Given the description of an element on the screen output the (x, y) to click on. 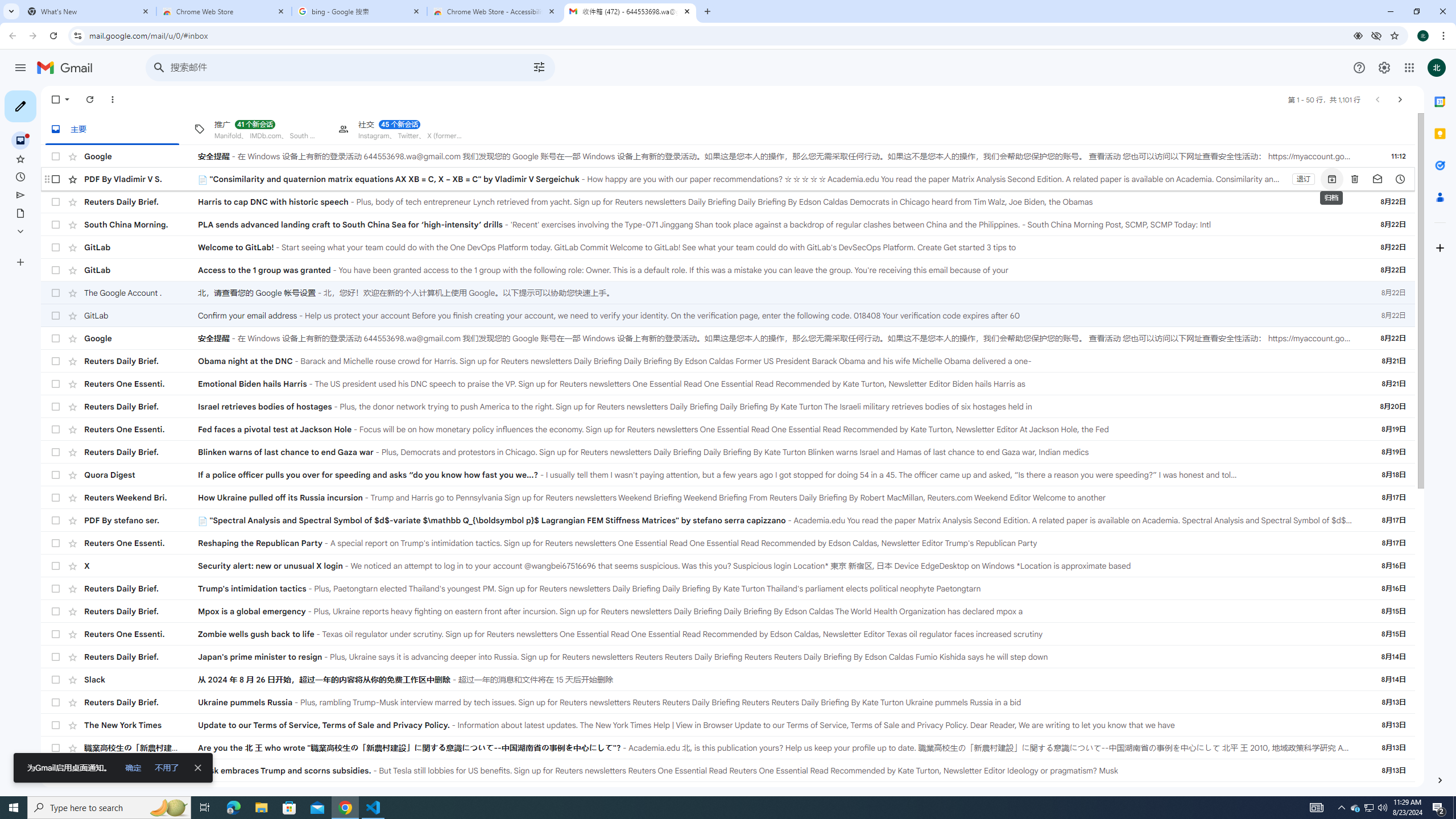
GitLab (141, 315)
South China Morning. (141, 224)
Chrome Web Store (224, 11)
page wants to install a service handler. (1358, 35)
